Given the description of an element on the screen output the (x, y) to click on. 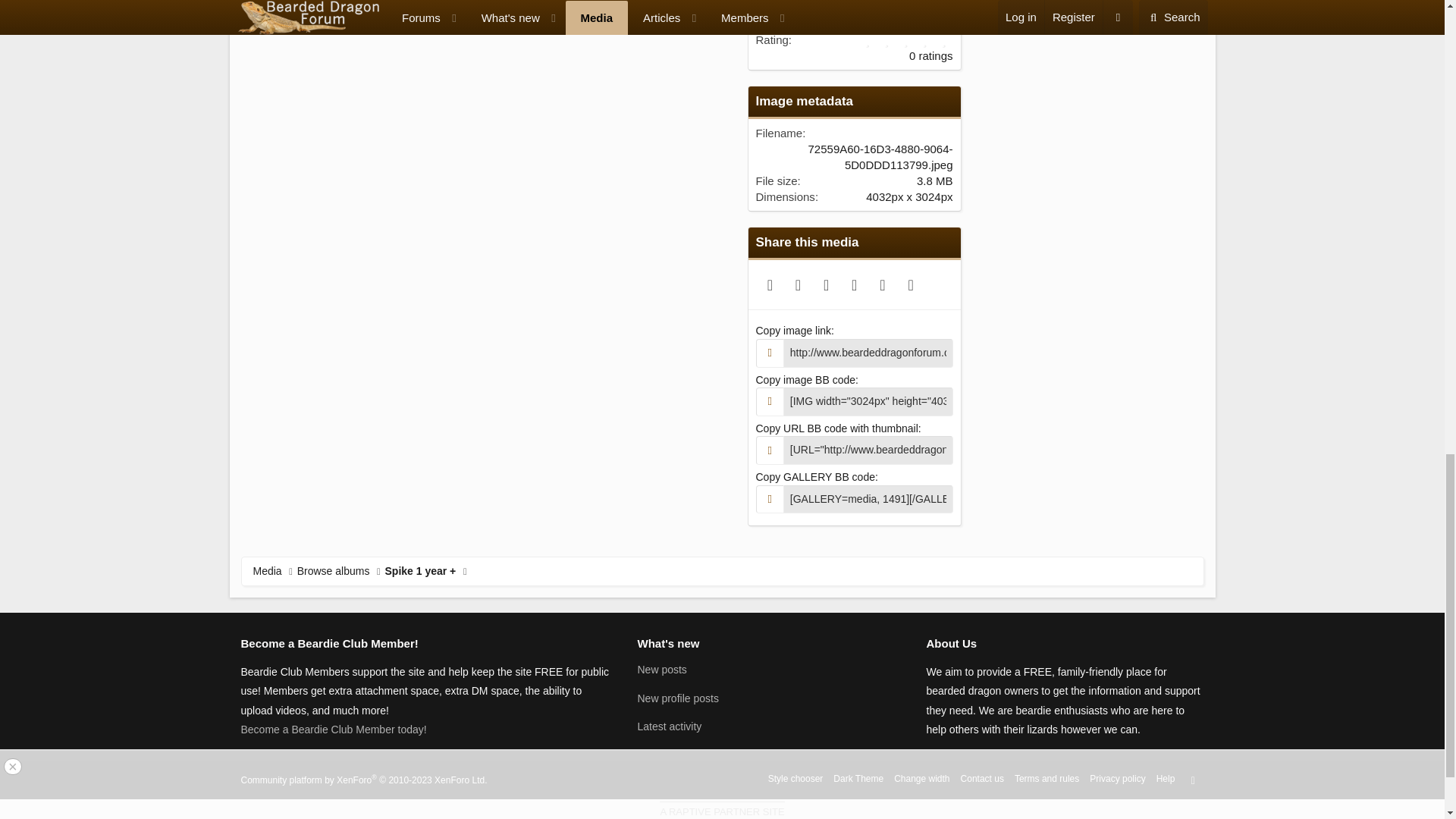
RSS (1193, 780)
